Given the description of an element on the screen output the (x, y) to click on. 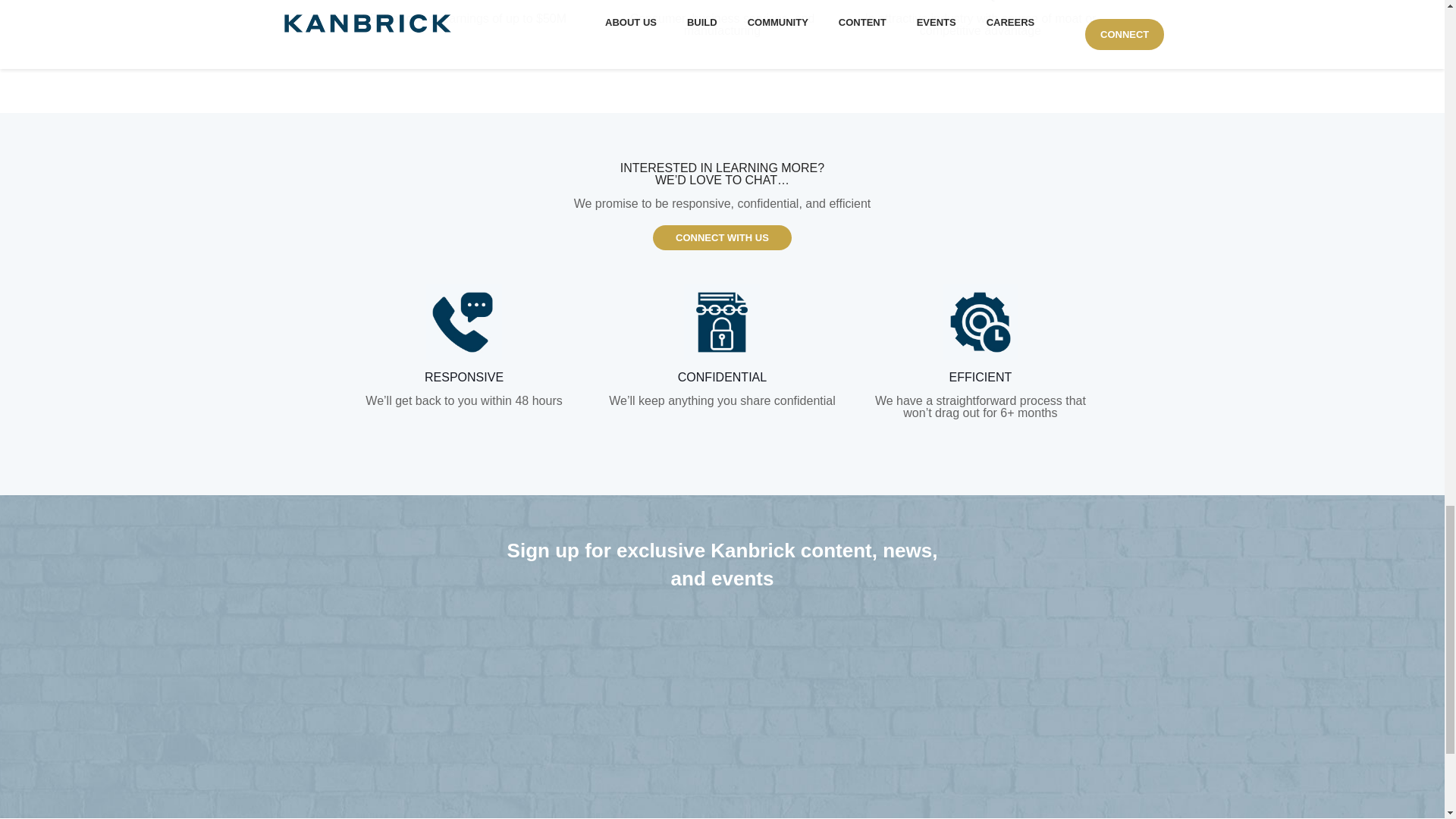
CONNECT WITH US (722, 237)
